Given the description of an element on the screen output the (x, y) to click on. 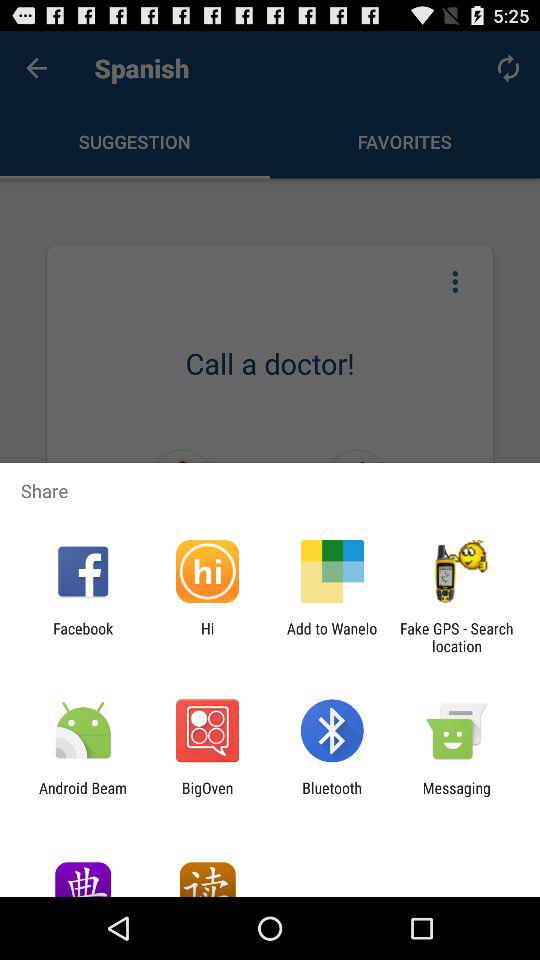
select item to the right of the facebook icon (207, 637)
